Given the description of an element on the screen output the (x, y) to click on. 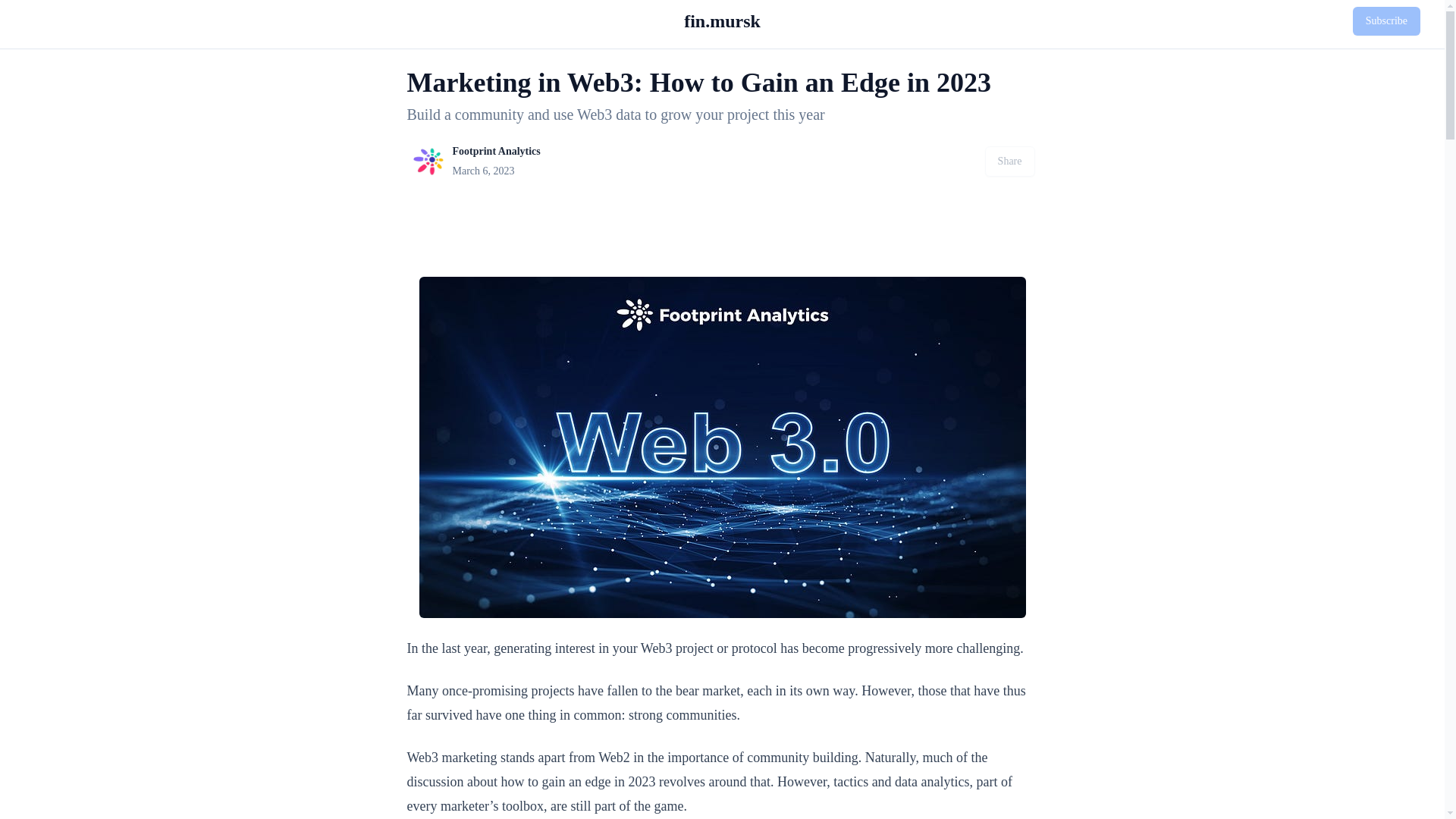
Subscribe (1386, 21)
Footprint Analytics (427, 161)
Share (1010, 161)
fin.mursk (722, 21)
